Given the description of an element on the screen output the (x, y) to click on. 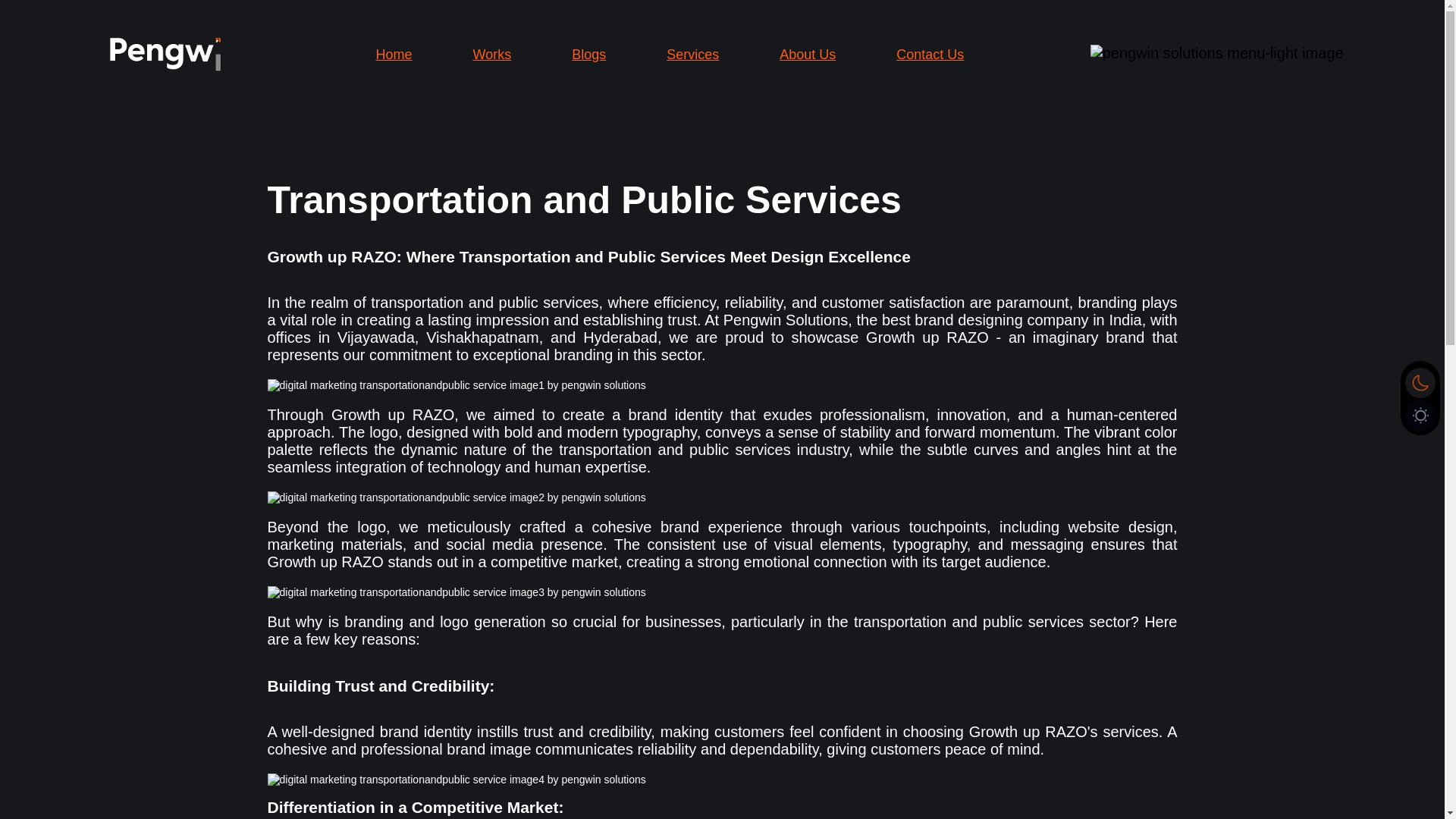
Contact Us (929, 53)
About Us (806, 53)
Works (492, 53)
Services (692, 53)
Home (393, 53)
Blogs (588, 53)
